Given the description of an element on the screen output the (x, y) to click on. 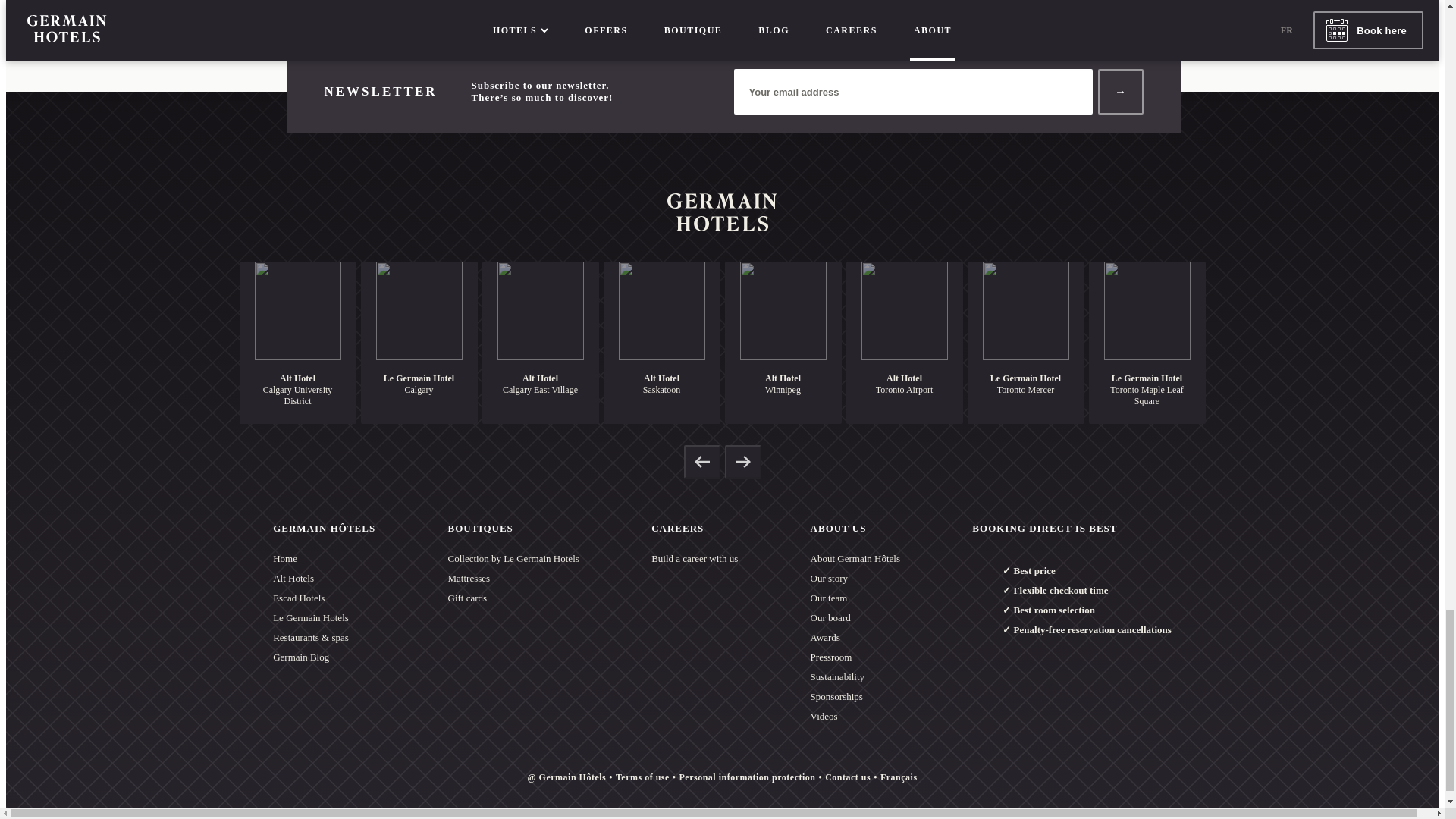
Build a career with us (694, 558)
Pressroom (854, 657)
Gift cards (513, 598)
Le Germain Hotels (324, 618)
Sustainability (854, 677)
Our board (854, 618)
Awards (854, 637)
Home (324, 558)
Germain Blog (324, 657)
Alt Hotels (324, 578)
Our team (854, 598)
Our story (854, 578)
Collection by Le Germain Hotels (513, 558)
Mattresses (513, 578)
Escad Hotels (324, 598)
